Given the description of an element on the screen output the (x, y) to click on. 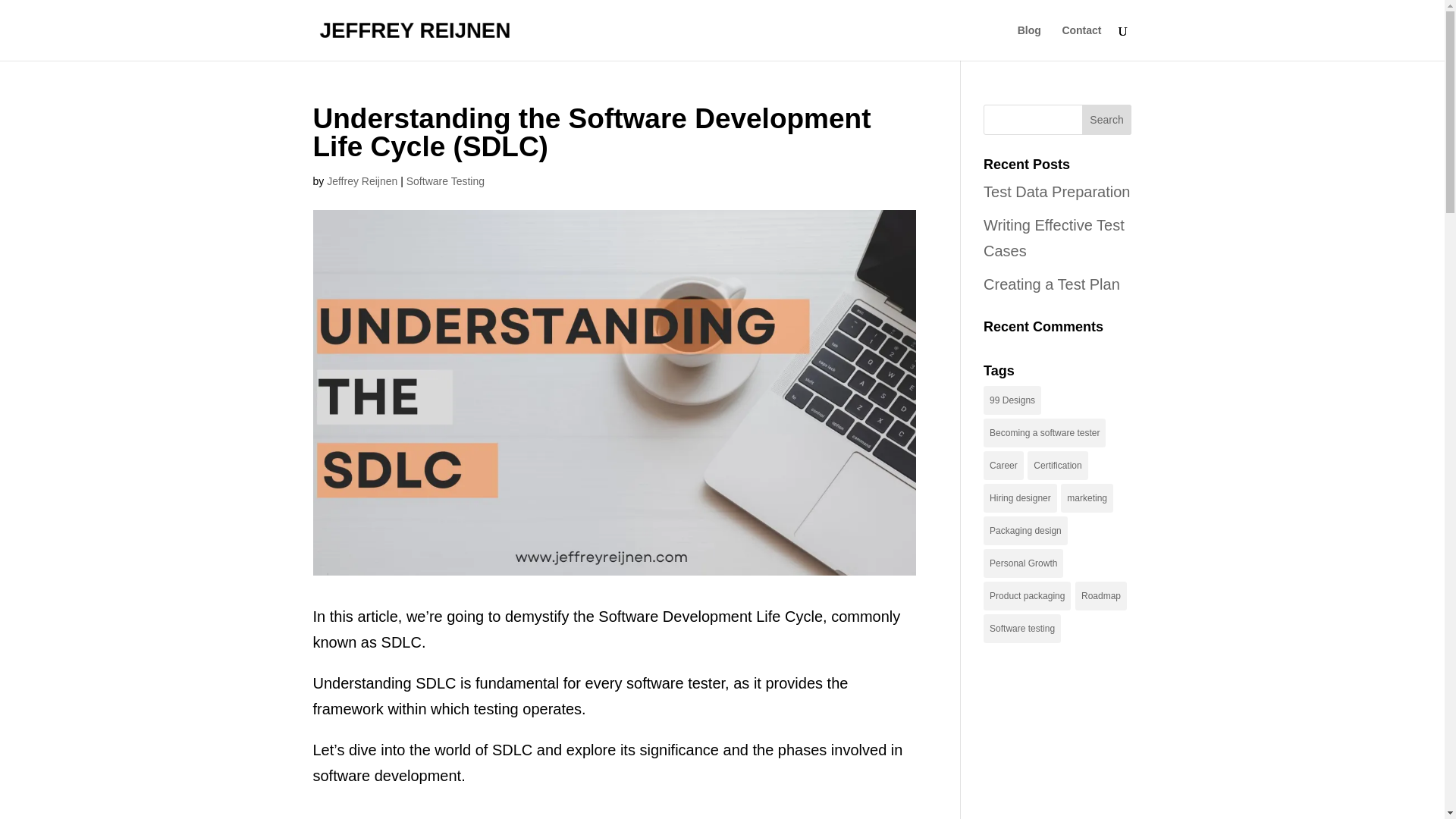
99 Designs (1012, 399)
Product packaging (1027, 595)
Certification (1057, 465)
Posts by Jeffrey Reijnen (361, 181)
Roadmap (1100, 595)
Search (1106, 119)
Creating a Test Plan (1051, 284)
Packaging design (1025, 530)
Contact (1080, 42)
Personal Growth (1023, 563)
Search (1106, 119)
Software testing (1022, 628)
Hiring designer (1020, 498)
Jeffrey Reijnen (361, 181)
Software Testing (445, 181)
